Given the description of an element on the screen output the (x, y) to click on. 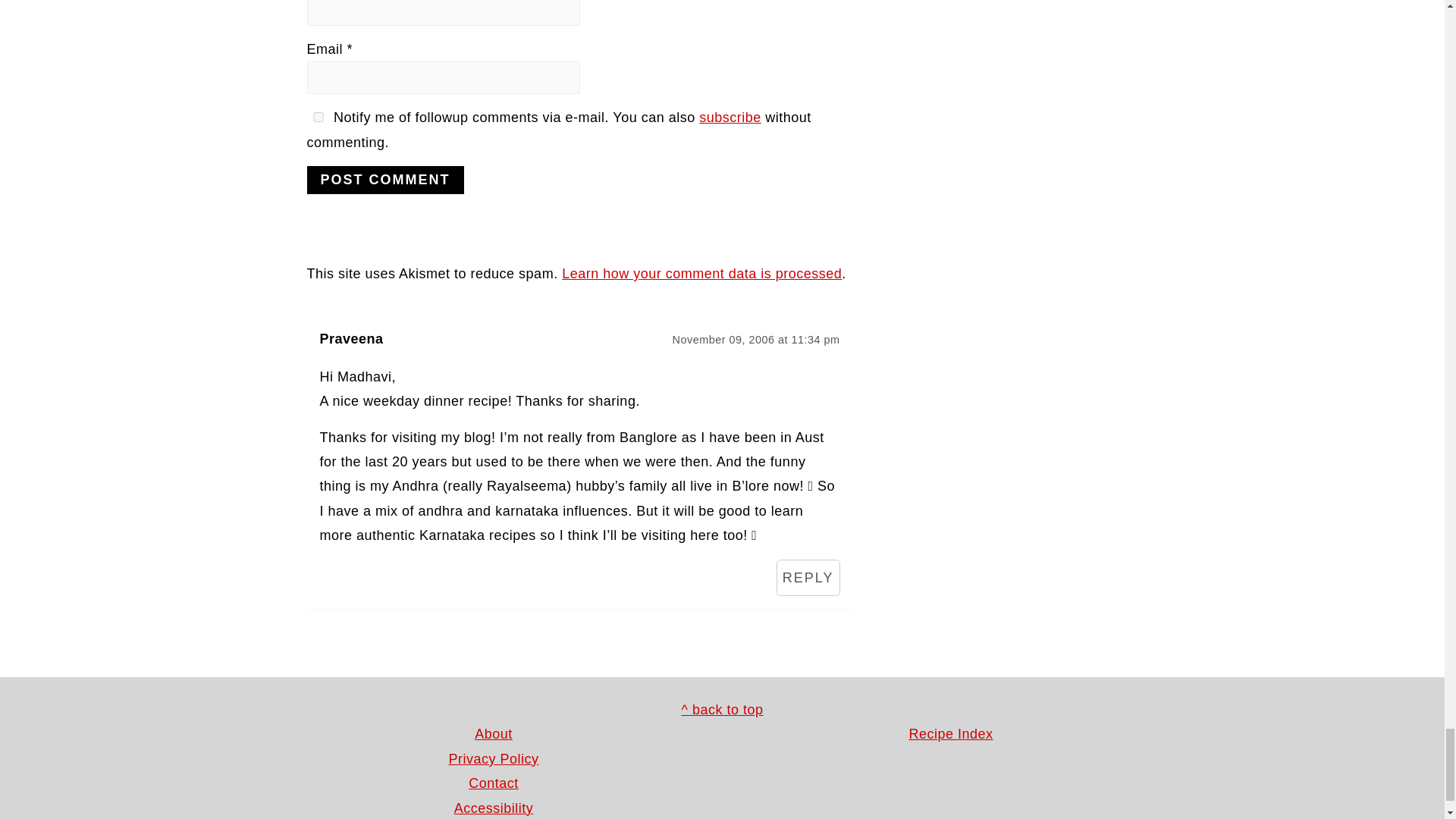
Post Comment (384, 180)
yes (317, 117)
